Given the description of an element on the screen output the (x, y) to click on. 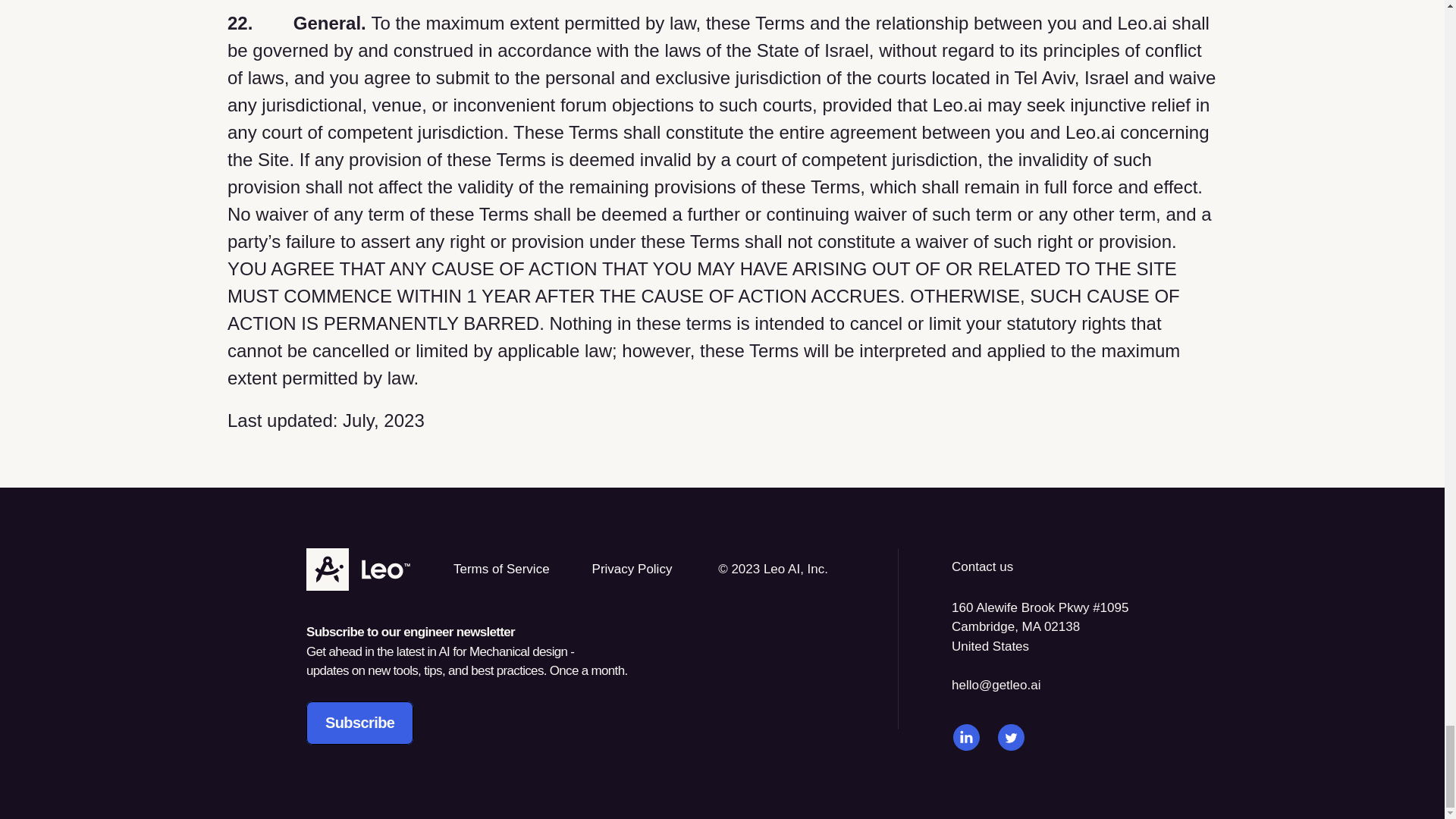
Privacy Policy (632, 568)
Terms of Service (501, 568)
Subscribe (359, 722)
Contact us (982, 566)
